Given the description of an element on the screen output the (x, y) to click on. 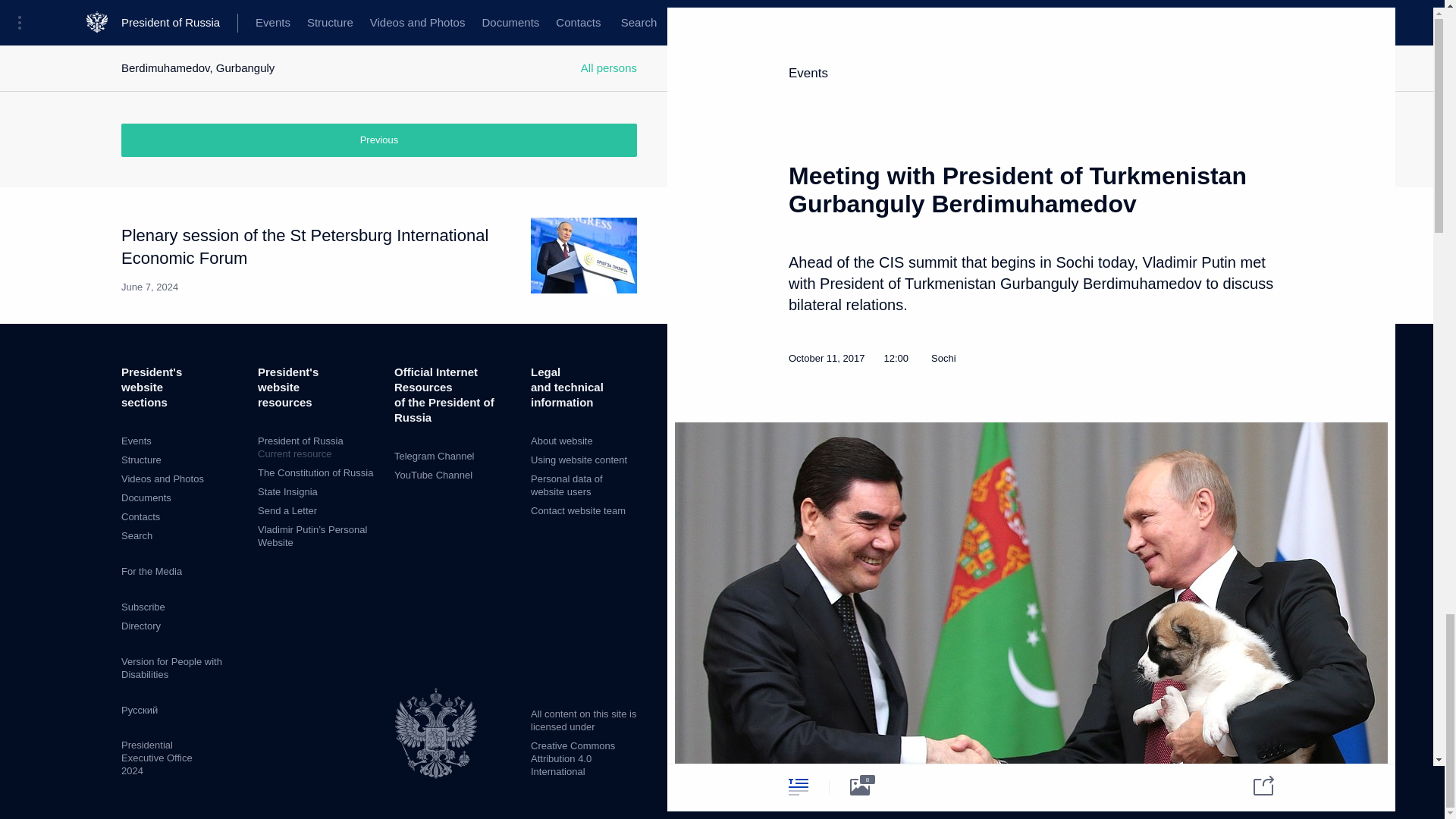
Structure (140, 460)
Events (135, 440)
Previous (378, 140)
